Given the description of an element on the screen output the (x, y) to click on. 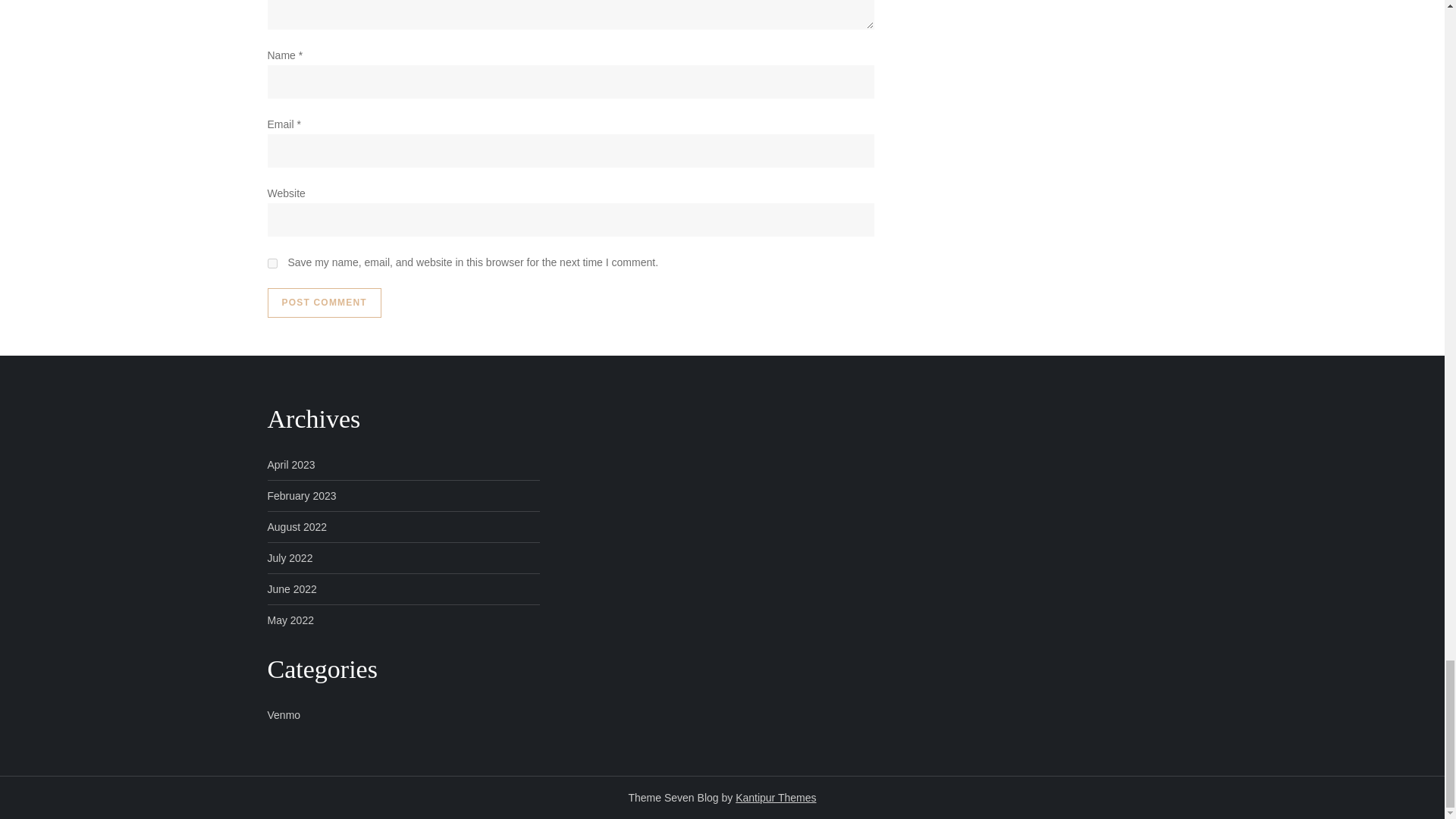
Post Comment (323, 303)
yes (271, 263)
Post Comment (323, 303)
